Given the description of an element on the screen output the (x, y) to click on. 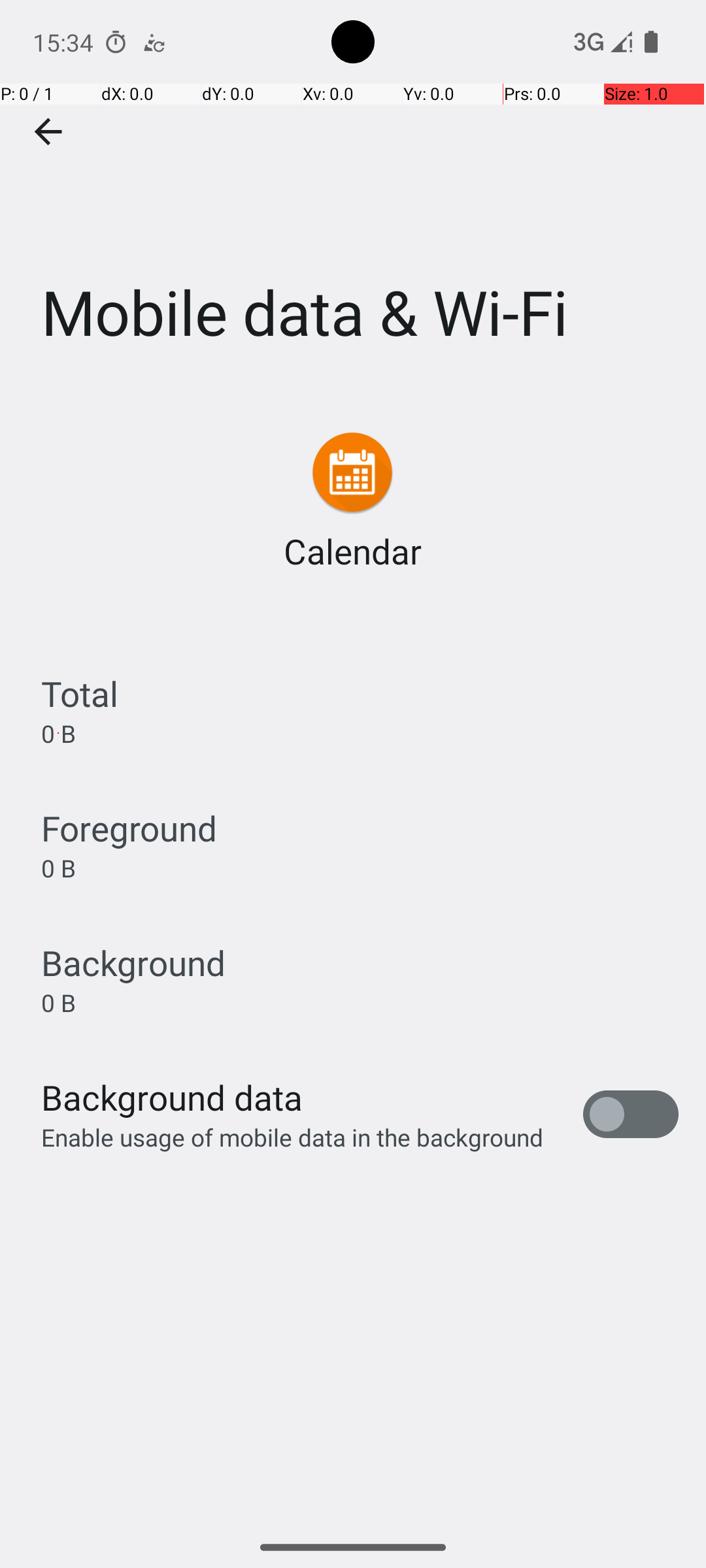
Foreground Element type: android.widget.TextView (129, 827)
Background Element type: android.widget.TextView (133, 962)
Background data Element type: android.widget.TextView (171, 1097)
Enable usage of mobile data in the background Element type: android.widget.TextView (292, 1136)
